Given the description of an element on the screen output the (x, y) to click on. 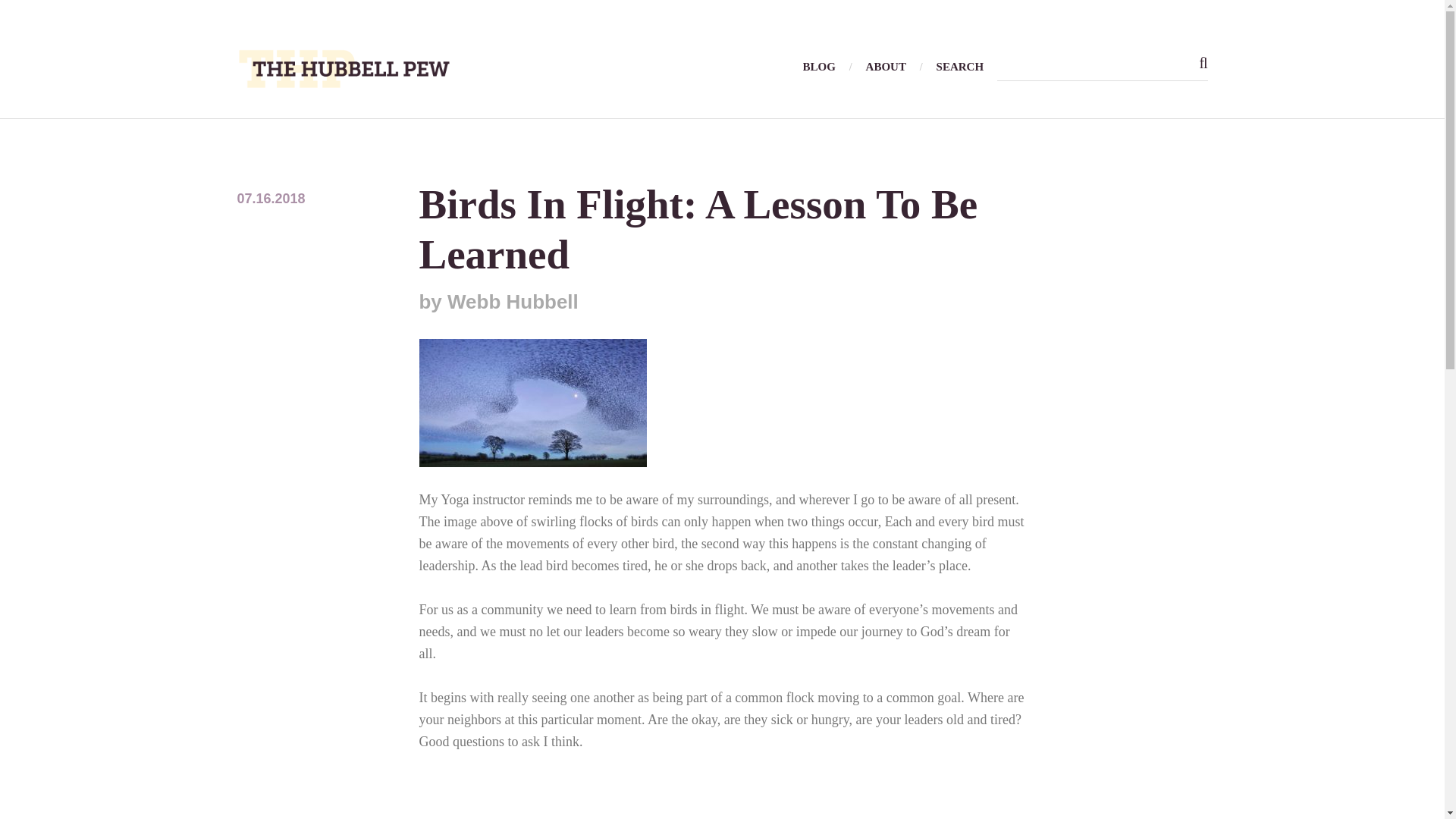
07.16.2018 (269, 198)
ABOUT (885, 66)
BLOG (819, 66)
